Given the description of an element on the screen output the (x, y) to click on. 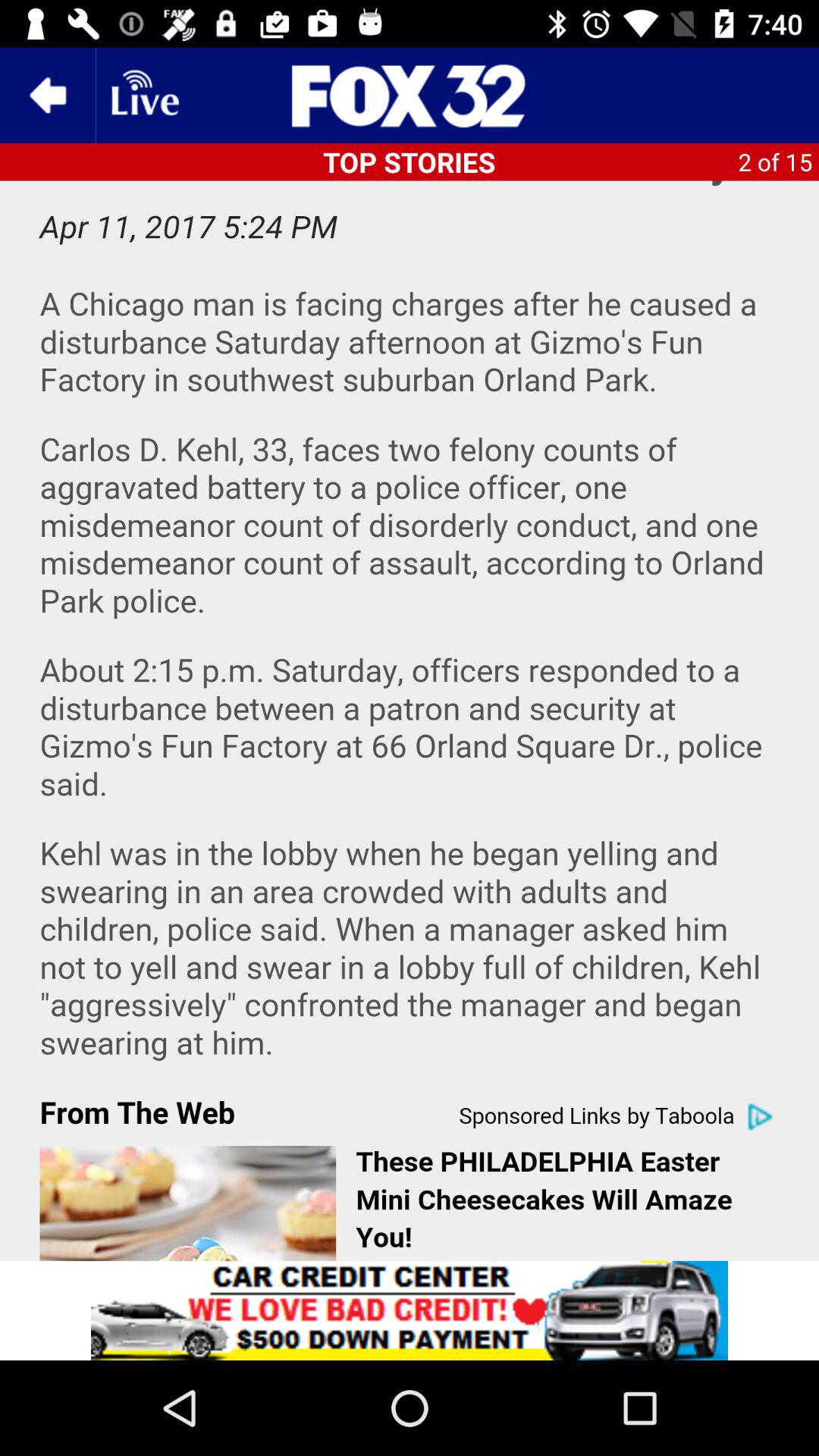
other fox 32 stories (409, 95)
